Given the description of an element on the screen output the (x, y) to click on. 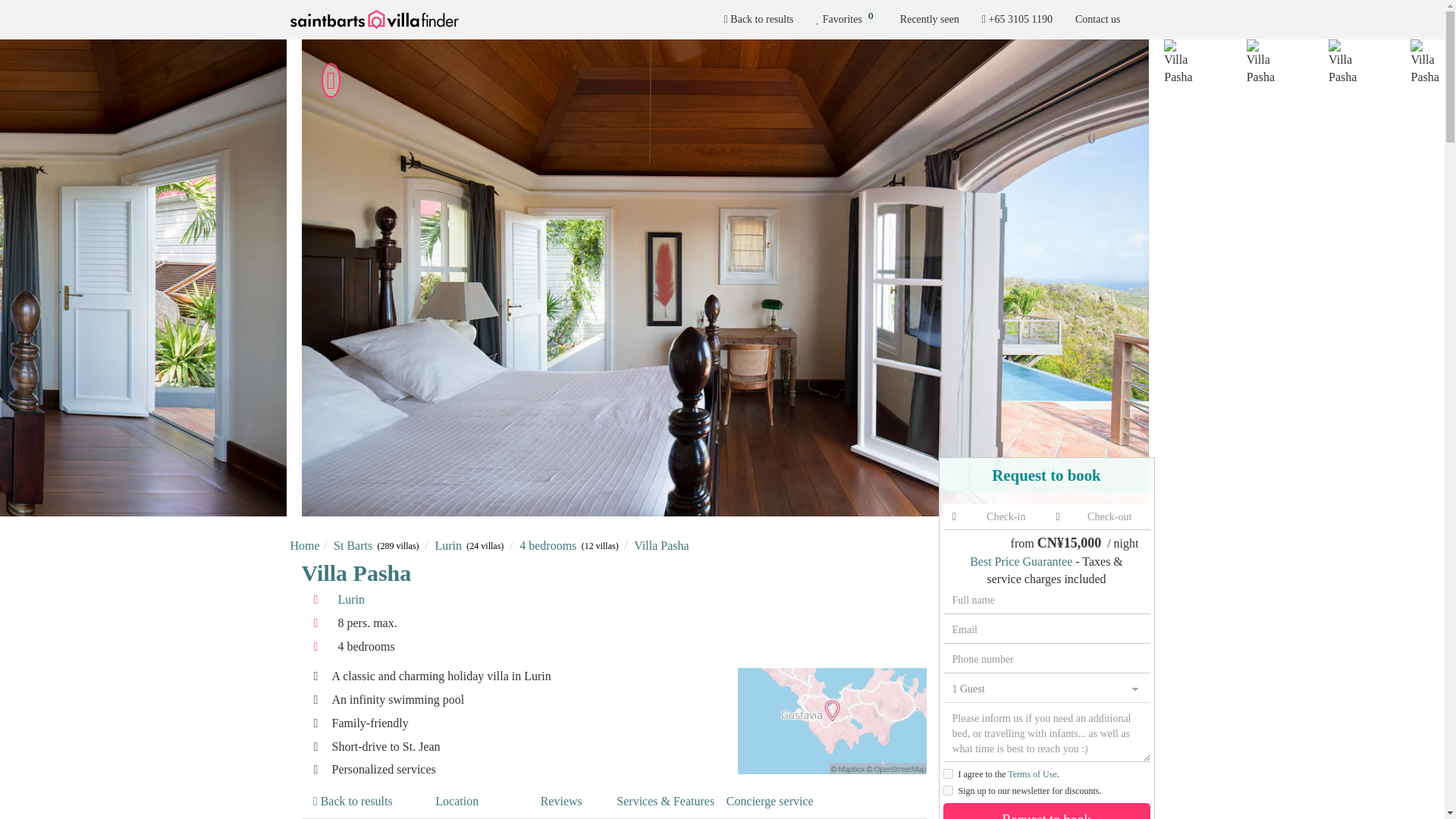
Location (457, 801)
Contact us (1098, 19)
1 (948, 790)
1 (948, 773)
Recently seen (929, 19)
Concierge service (846, 19)
Contact us (770, 801)
Back to results (1098, 19)
Reviews (759, 19)
